Given the description of an element on the screen output the (x, y) to click on. 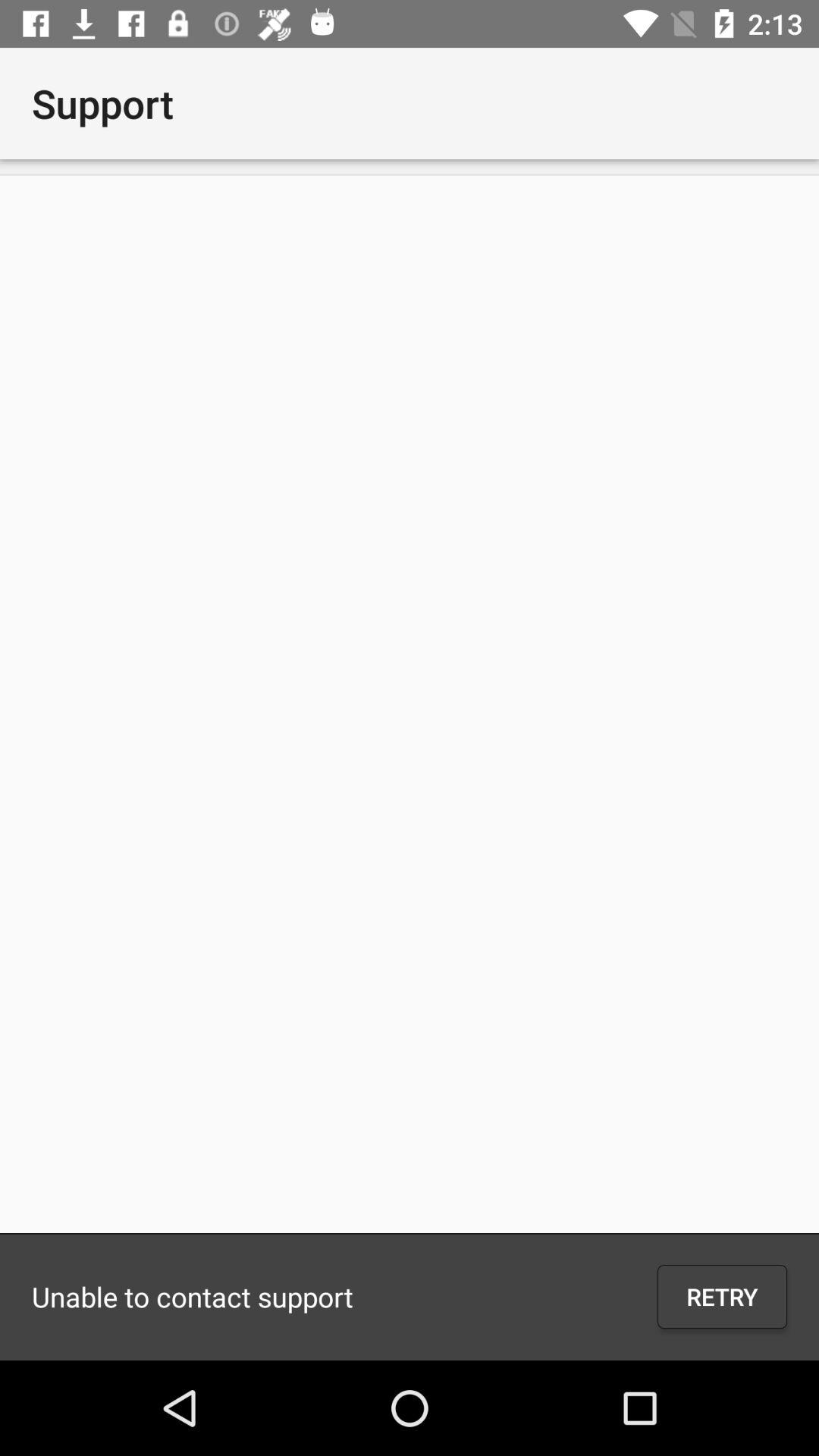
swipe until the retry (722, 1296)
